Given the description of an element on the screen output the (x, y) to click on. 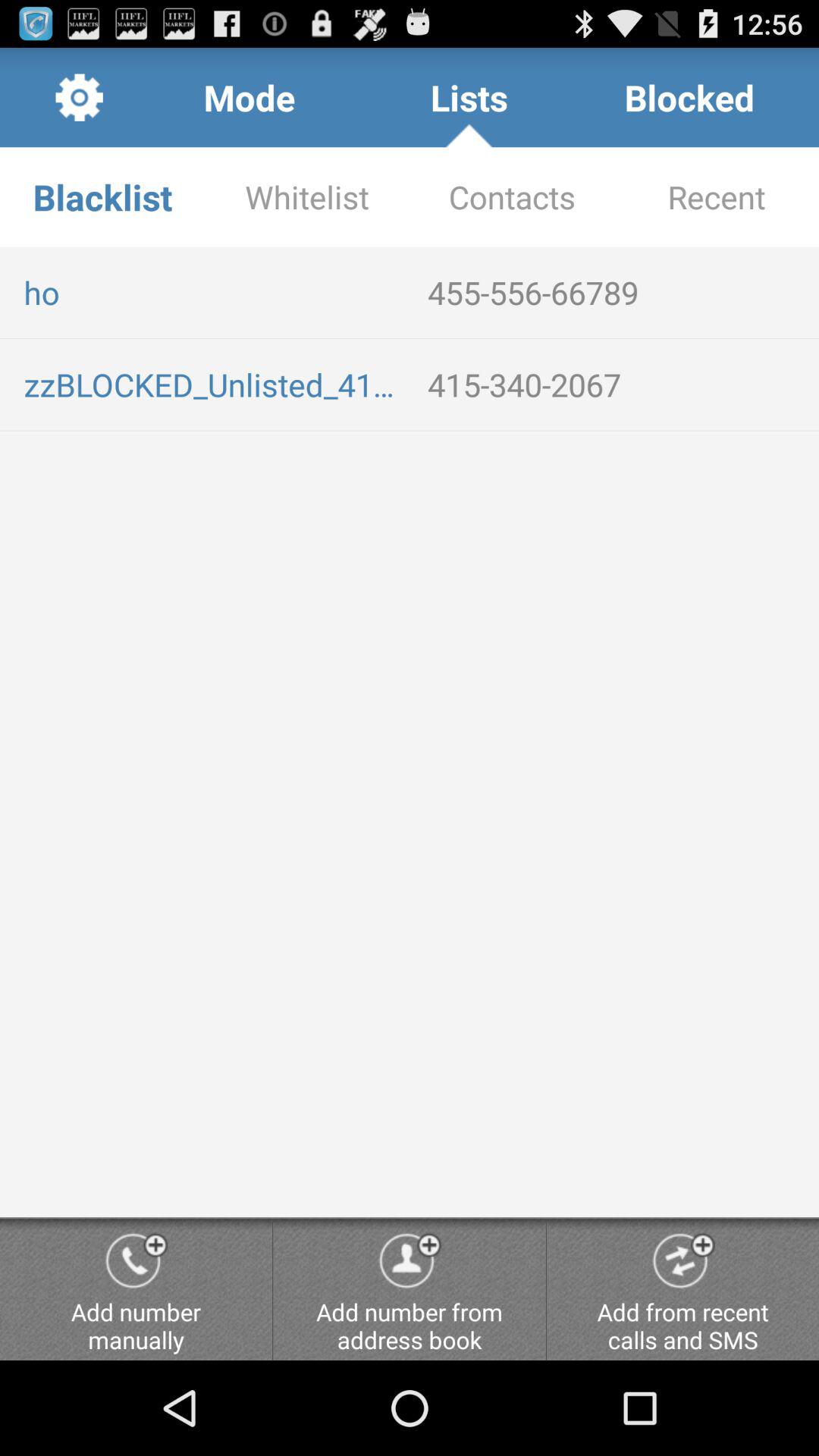
jump to blocked app (689, 97)
